Given the description of an element on the screen output the (x, y) to click on. 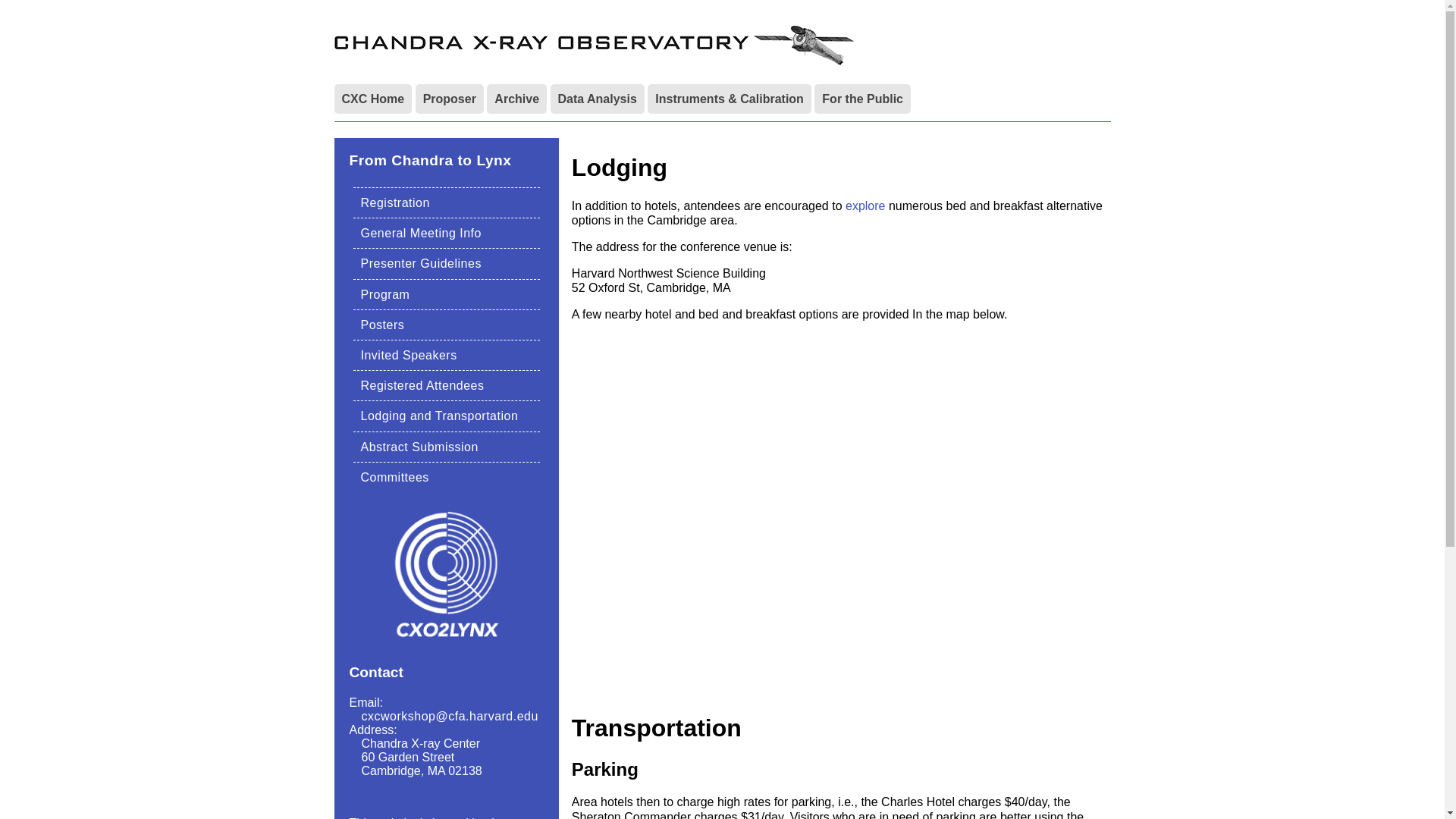
Proposer (448, 98)
General Meeting Info (421, 232)
Archive (516, 98)
Committees (395, 477)
For the Public (862, 98)
Presenter Guidelines (421, 263)
CXC Home (372, 98)
From Chandra to Lynx (430, 160)
Invited Speakers (409, 354)
Lodging and Transportation (439, 415)
Program (385, 294)
Data Analysis (597, 98)
explore (865, 205)
Posters (382, 324)
Registered Attendees (422, 385)
